Given the description of an element on the screen output the (x, y) to click on. 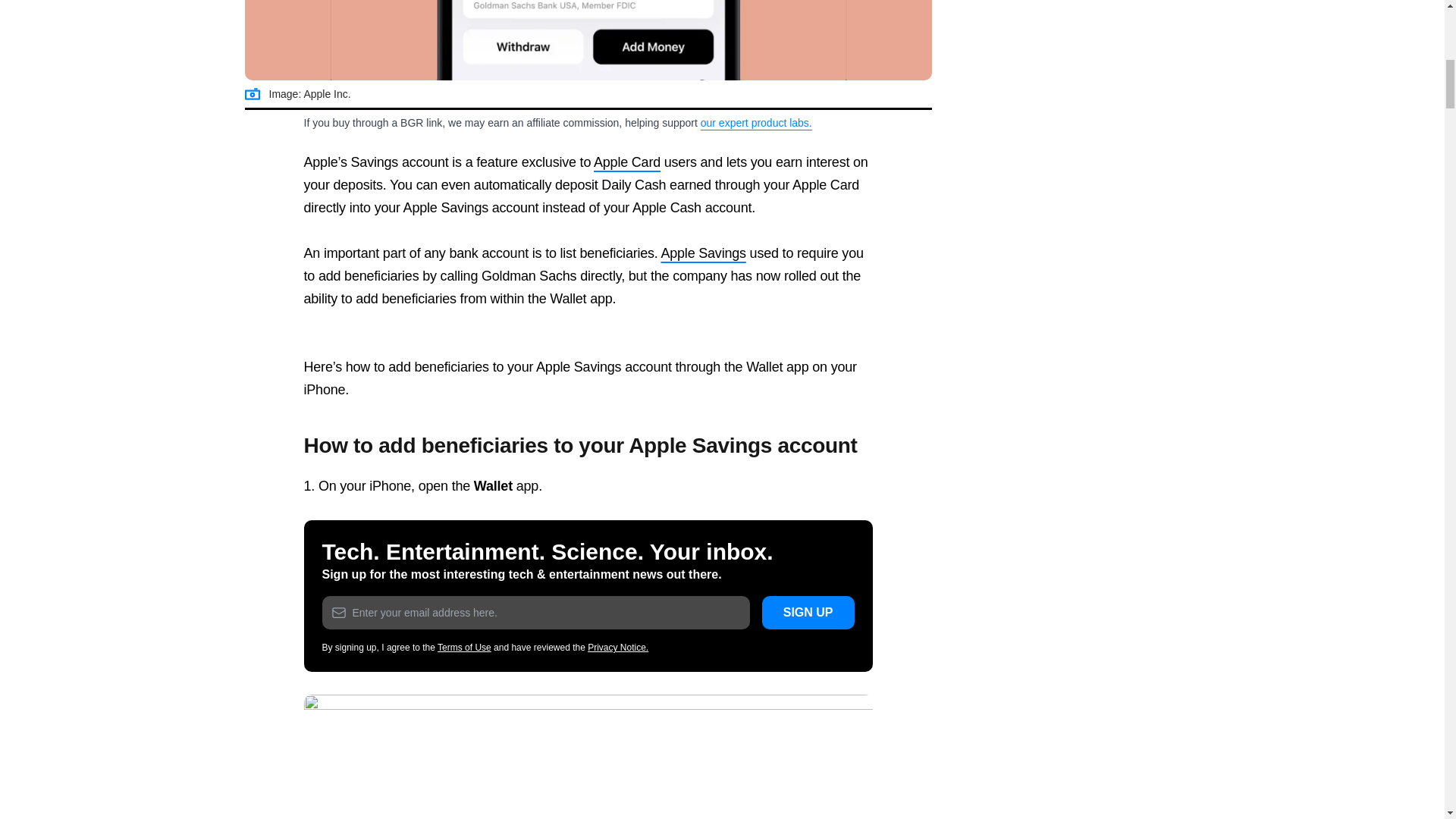
Apple Savings (587, 40)
